Given the description of an element on the screen output the (x, y) to click on. 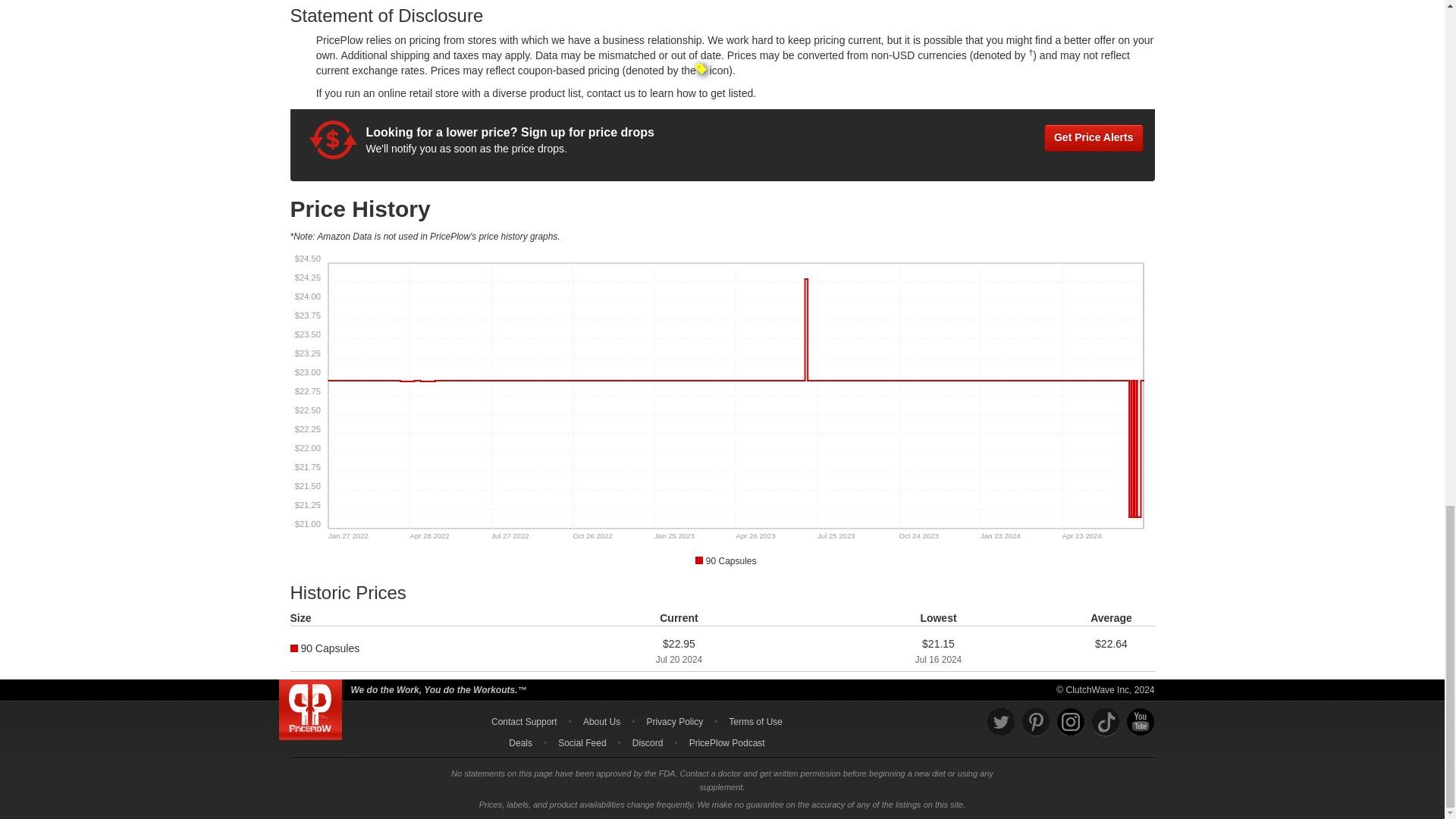
Example coupon icon (700, 68)
